Given the description of an element on the screen output the (x, y) to click on. 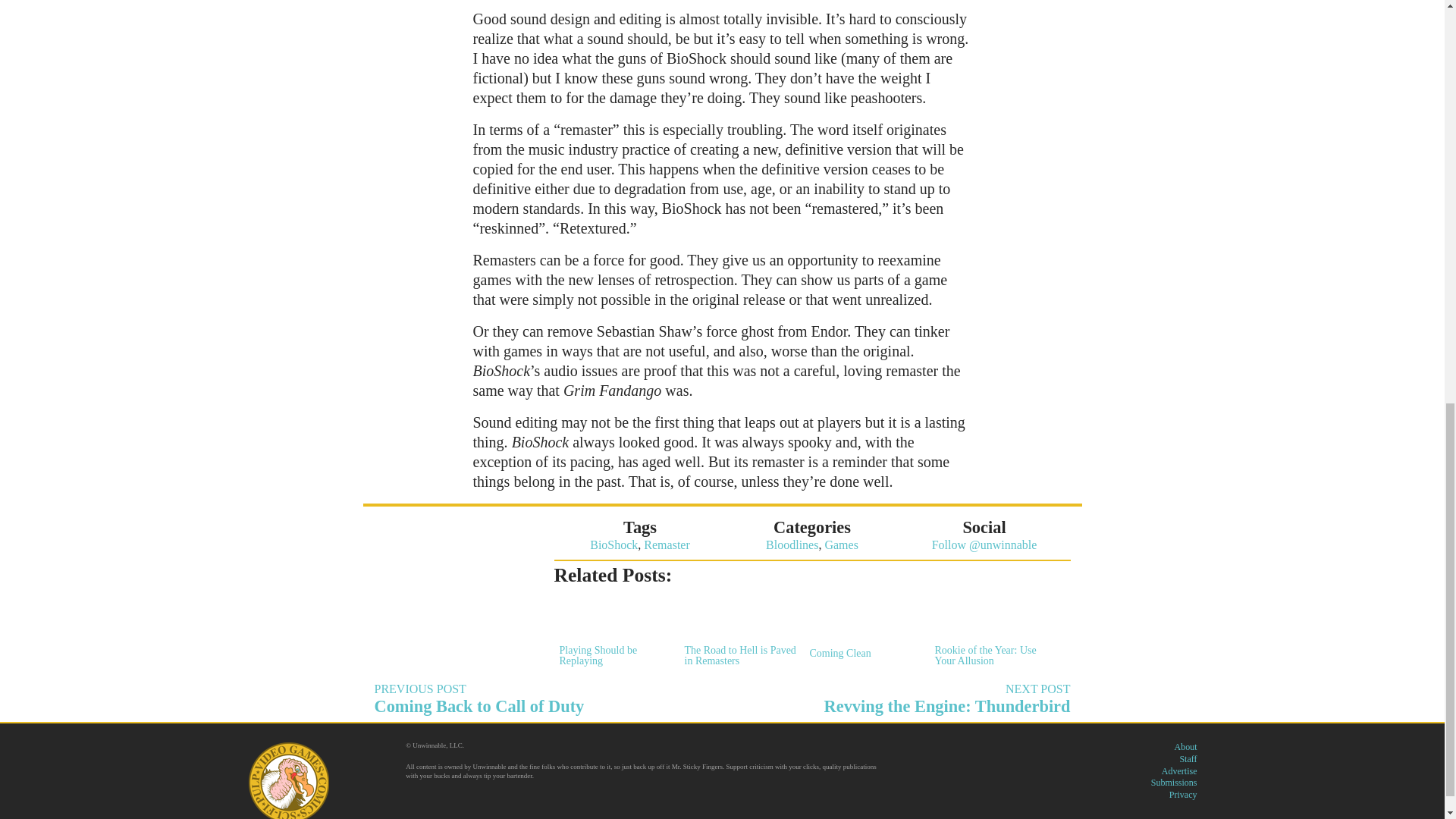
About (1184, 747)
Advertise (1178, 770)
Rookie of the Year: Use Your Allusion (989, 630)
Staff (542, 698)
Privacy (1187, 758)
Coming Clean (1182, 794)
BioShock (862, 626)
The Road to Hell is Paved in Remasters (613, 544)
